Given the description of an element on the screen output the (x, y) to click on. 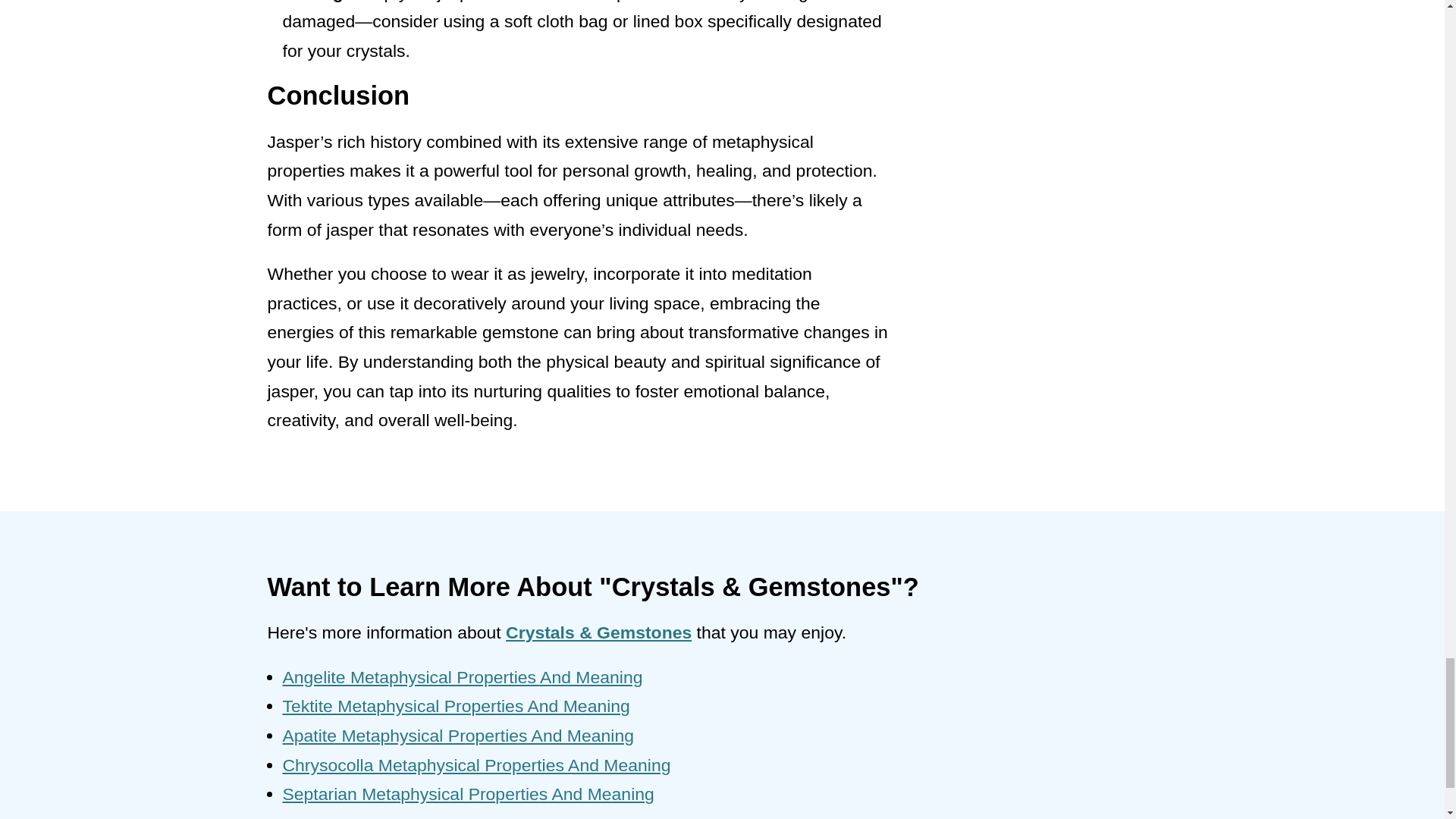
Angelite Metaphysical Properties And Meaning (462, 677)
Septarian Metaphysical Properties And Meaning (467, 793)
Tektite Metaphysical Properties And Meaning (455, 705)
Apatite Metaphysical Properties And Meaning (457, 735)
Chrysocolla Metaphysical Properties And Meaning (475, 764)
